Given the description of an element on the screen output the (x, y) to click on. 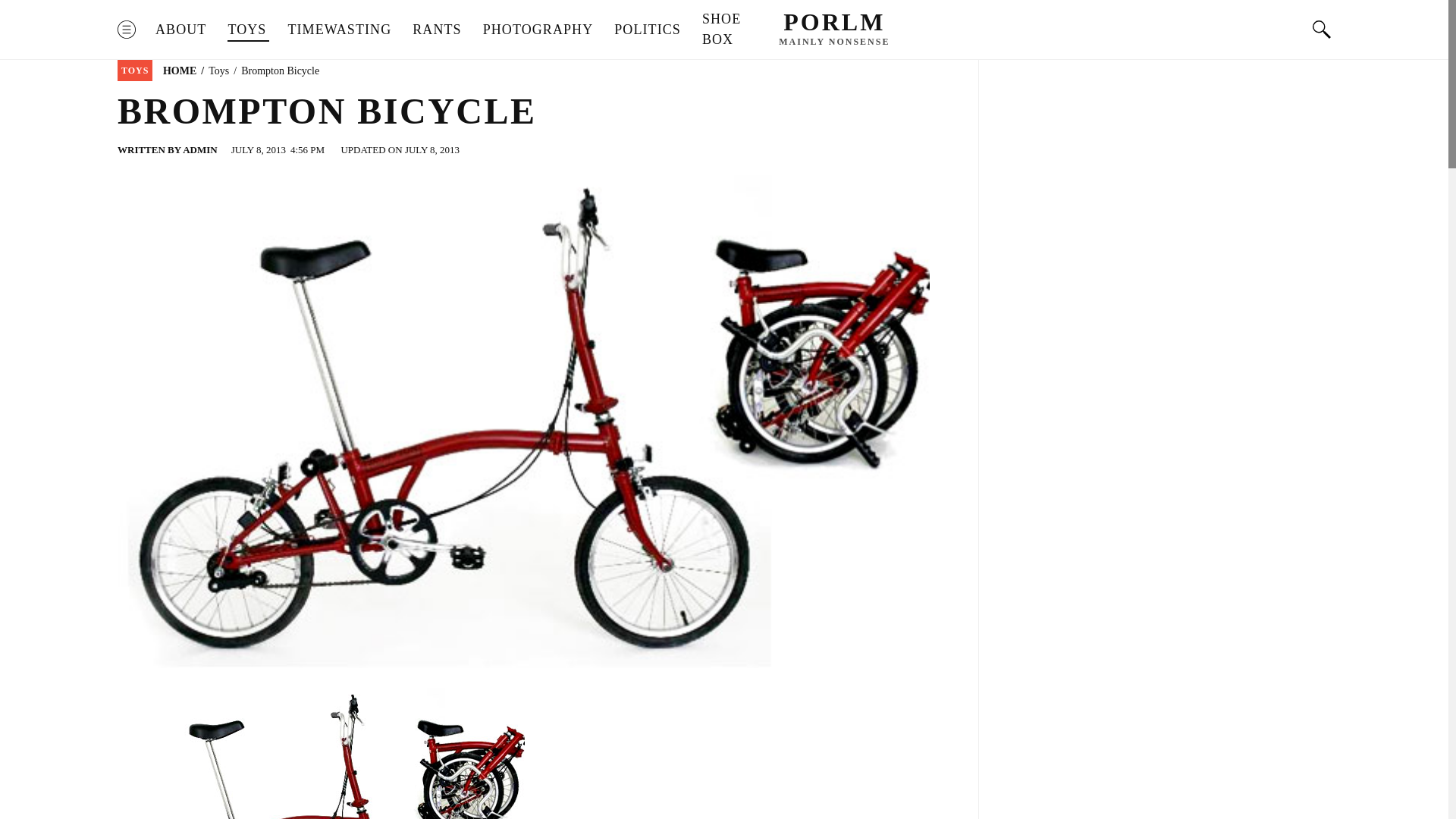
ADMIN (199, 149)
TIMEWASTING (339, 29)
RANTS (436, 29)
TOYS (134, 70)
PORLM (834, 21)
HOME (179, 70)
JULY 8, 20134:56 PM UPDATED ON JULY 8, 2013 (347, 149)
PHOTOGRAPHY (538, 29)
ABOUT (181, 29)
MENU (126, 29)
SHOE BOX (721, 29)
POLITICS (647, 29)
TOYS (246, 29)
Toys (218, 70)
